Given the description of an element on the screen output the (x, y) to click on. 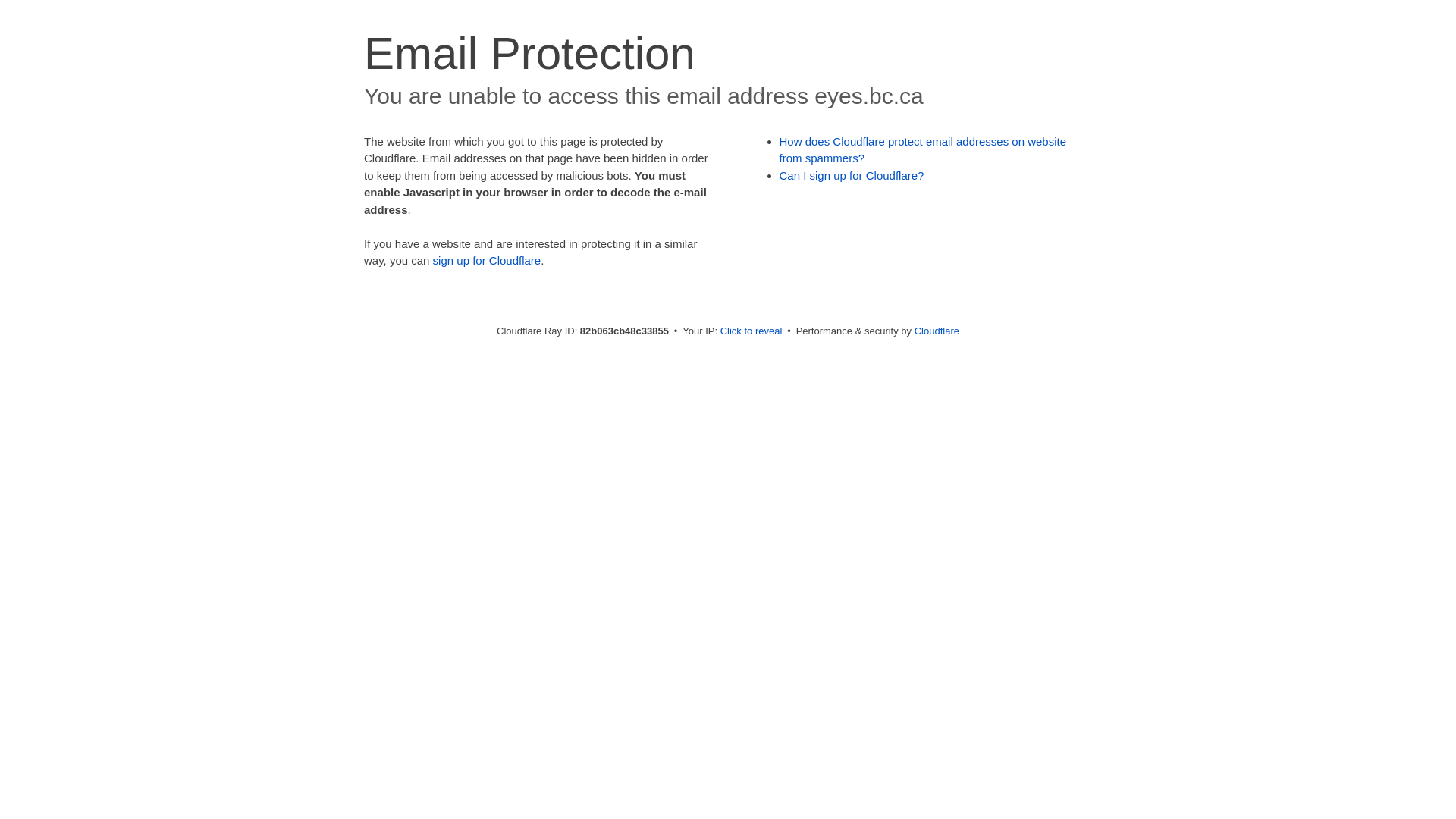
Can I sign up for Cloudflare? Element type: text (851, 175)
Click to reveal Element type: text (751, 330)
Cloudflare Element type: text (936, 330)
sign up for Cloudflare Element type: text (487, 260)
